Given the description of an element on the screen output the (x, y) to click on. 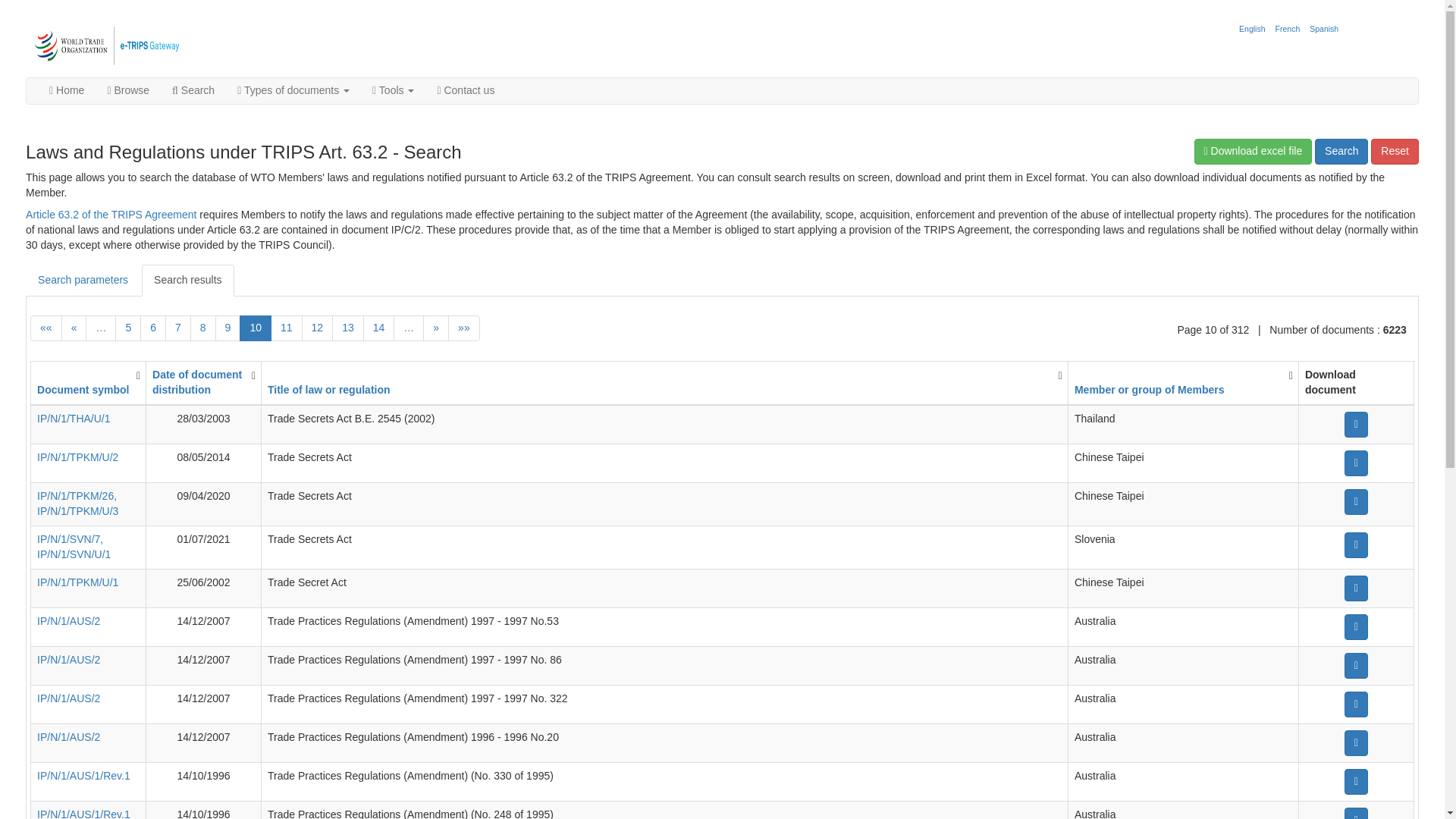
Types of documents (293, 90)
Spanish (1323, 29)
Browse (128, 90)
English (1251, 29)
Tools (393, 90)
French (1287, 29)
Home (66, 90)
Search (192, 90)
